Given the description of an element on the screen output the (x, y) to click on. 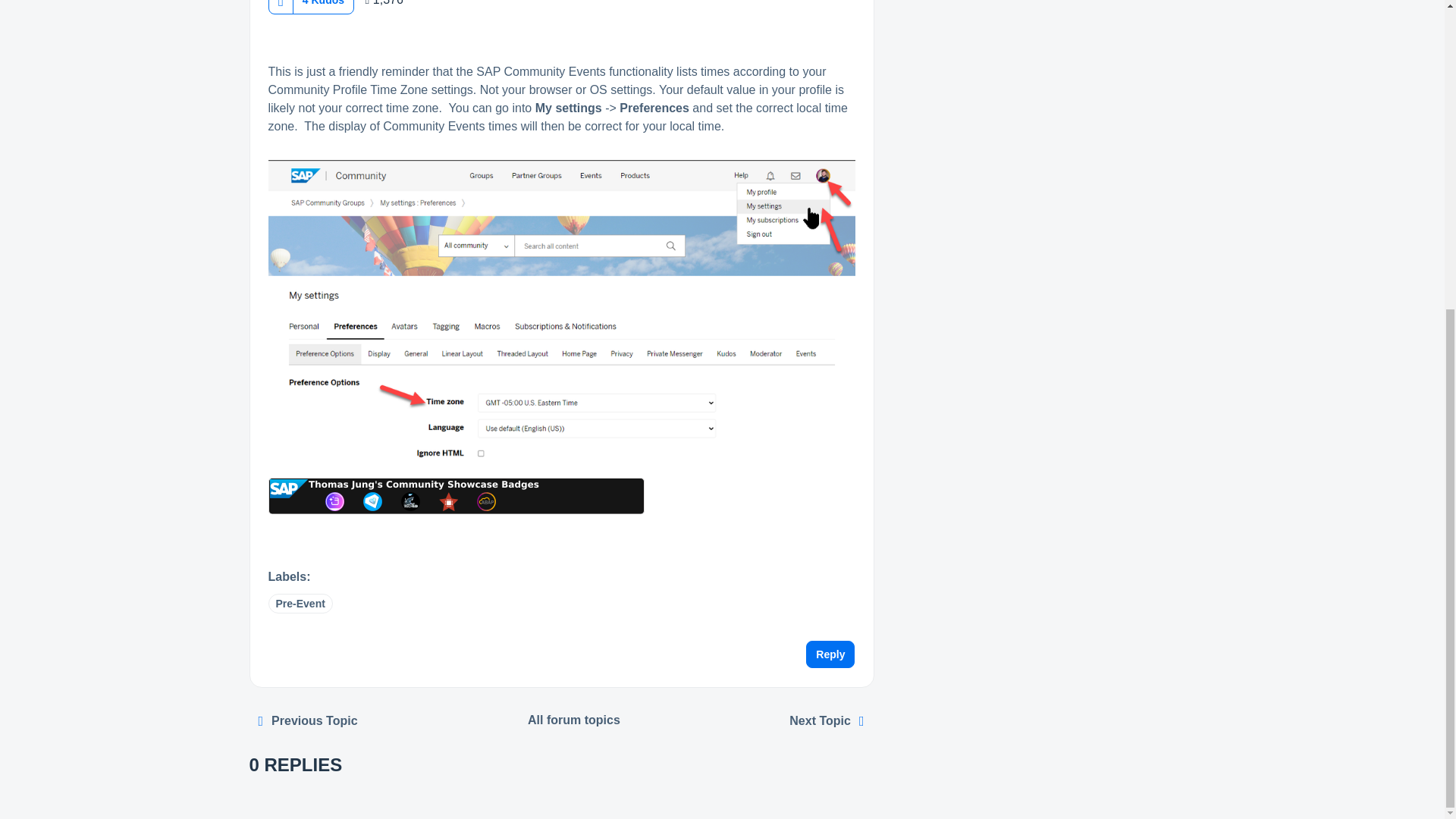
Reply (830, 654)
All forum topics (574, 719)
Previous Topic (308, 720)
Click here to see who gave kudos to this post. (323, 6)
4 Kudos (323, 6)
Click here to give kudos to this post. (279, 6)
Next Topic (825, 720)
Pre-Event (300, 603)
